Given the description of an element on the screen output the (x, y) to click on. 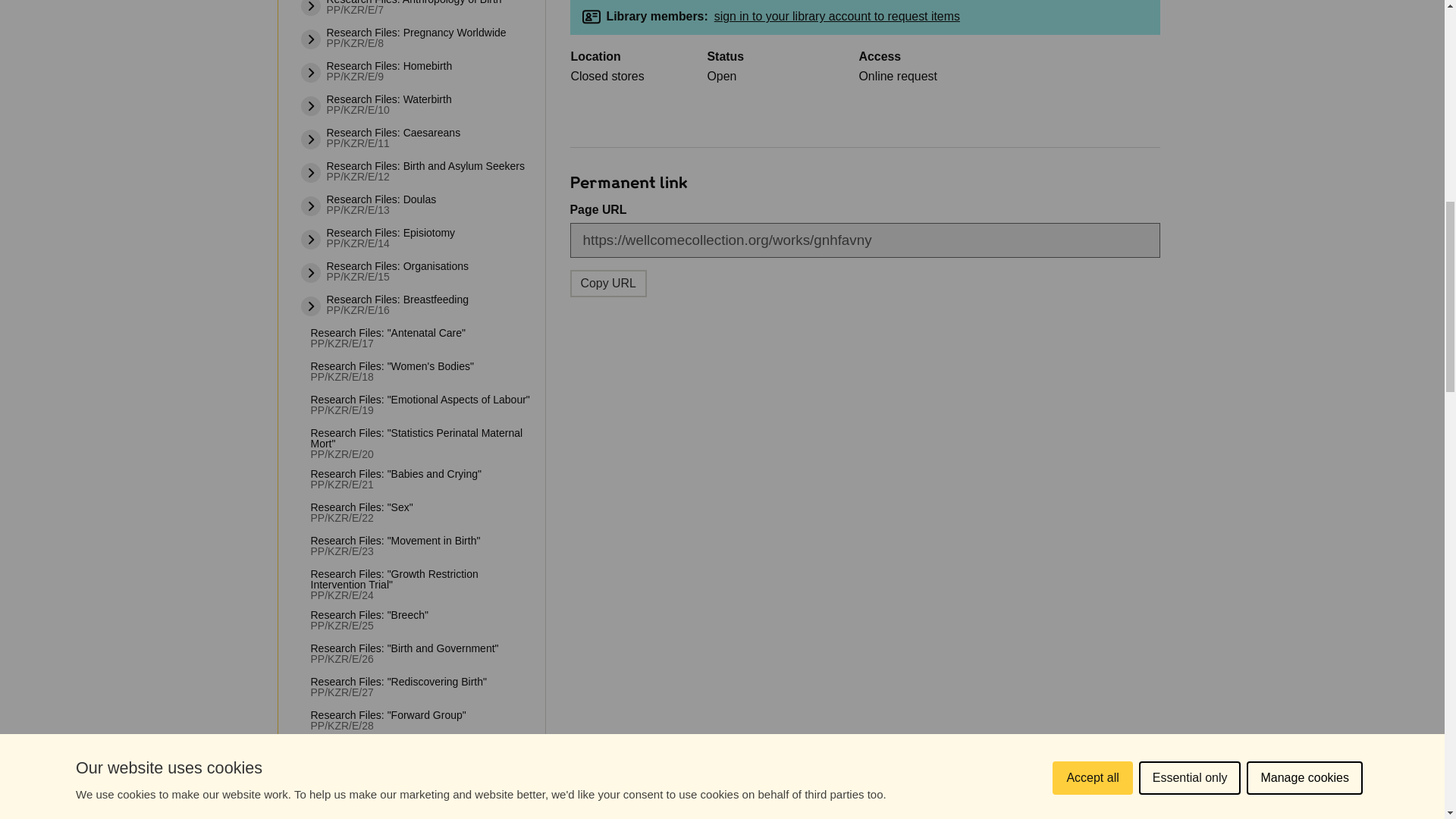
Essential only (1189, 24)
Manage cookies (1304, 17)
Accept all (1092, 37)
